Given the description of an element on the screen output the (x, y) to click on. 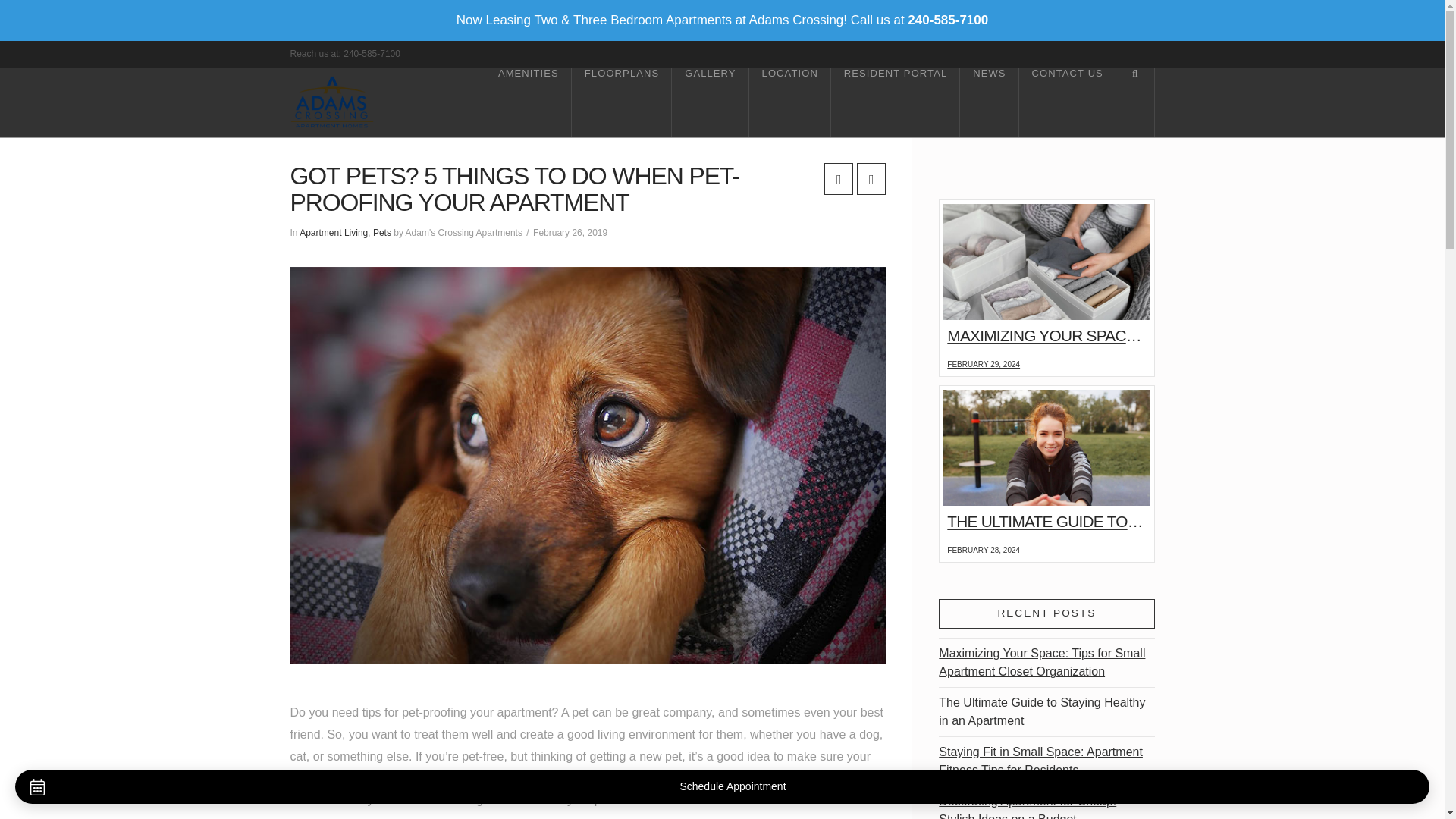
FLOORPLANS (621, 101)
AMENITIES (528, 101)
240-585-7100 (371, 53)
GALLERY (709, 101)
RESIDENT PORTAL (895, 101)
LOCATION (790, 101)
Apartment Living (333, 232)
The Ultimate Guide to Staying Healthy in an Apartment (1041, 711)
Pets (381, 232)
Decorating Apartment for Cheap: Stylish Ideas on a Budget (1027, 803)
